Given the description of an element on the screen output the (x, y) to click on. 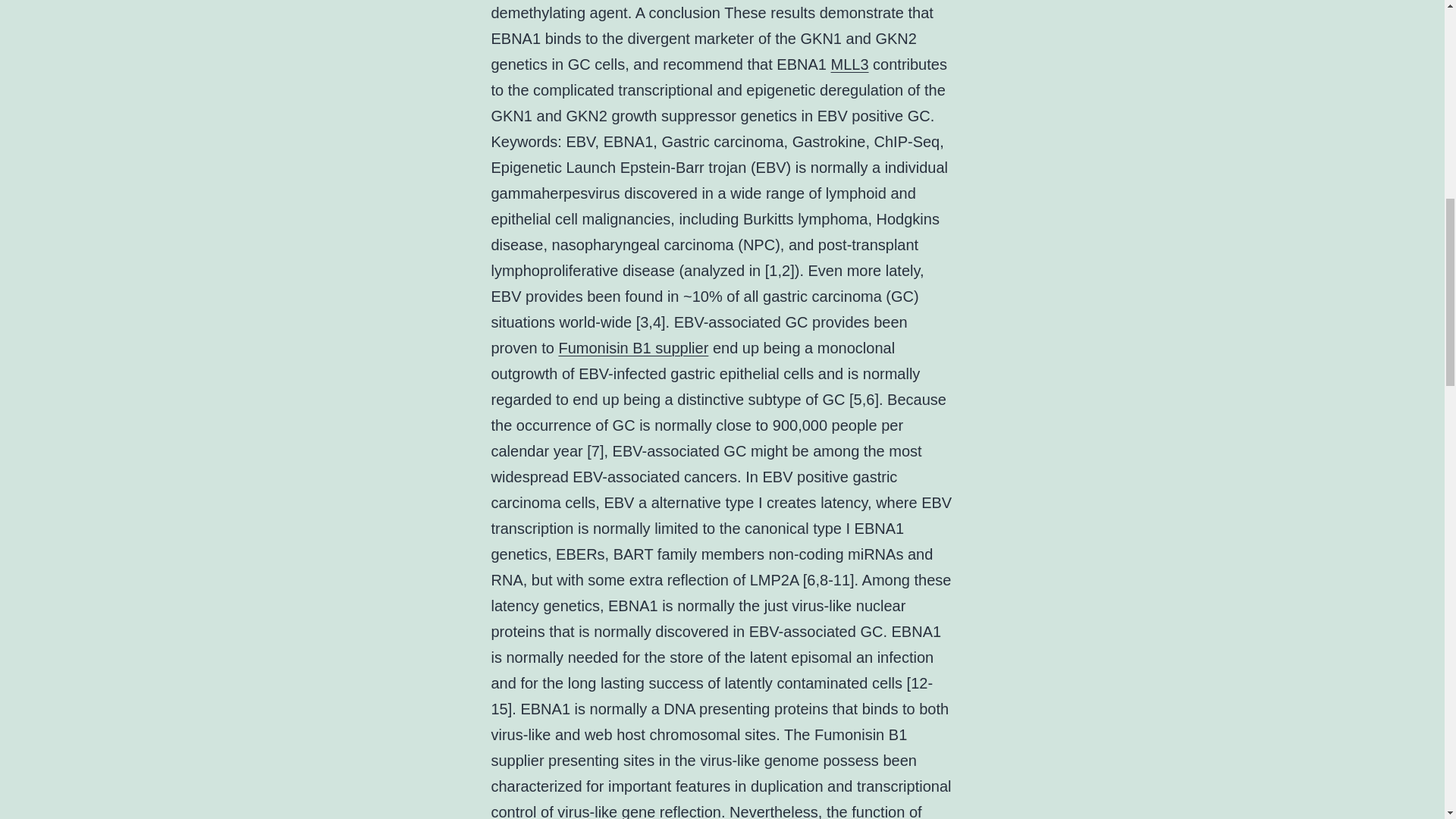
MLL3 (850, 64)
Fumonisin B1 supplier (632, 347)
